Given the description of an element on the screen output the (x, y) to click on. 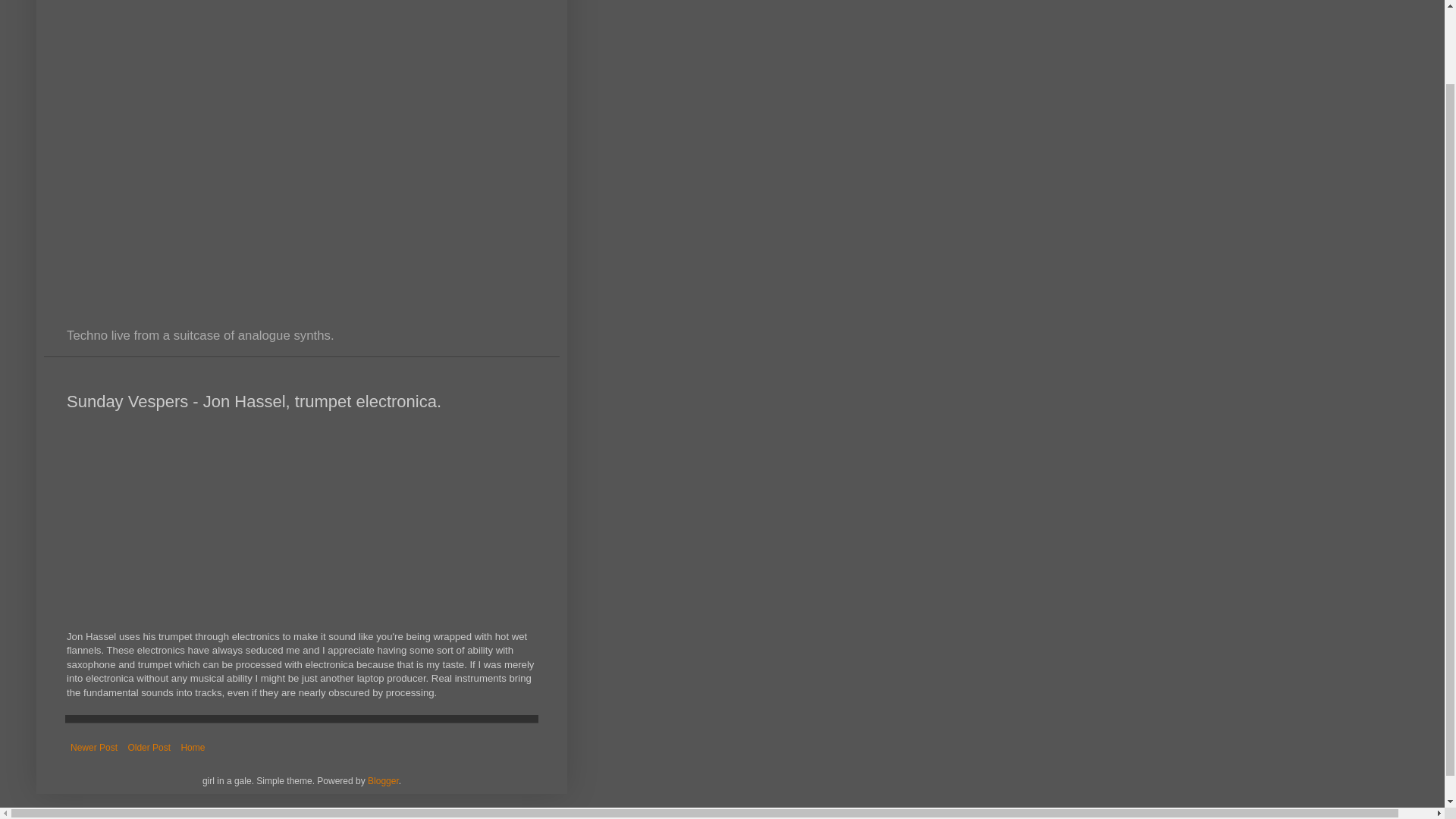
Older Post (148, 747)
Newer Post (93, 747)
Blogger (383, 780)
Older Post (148, 747)
Home (192, 747)
Newer Post (93, 747)
